Given the description of an element on the screen output the (x, y) to click on. 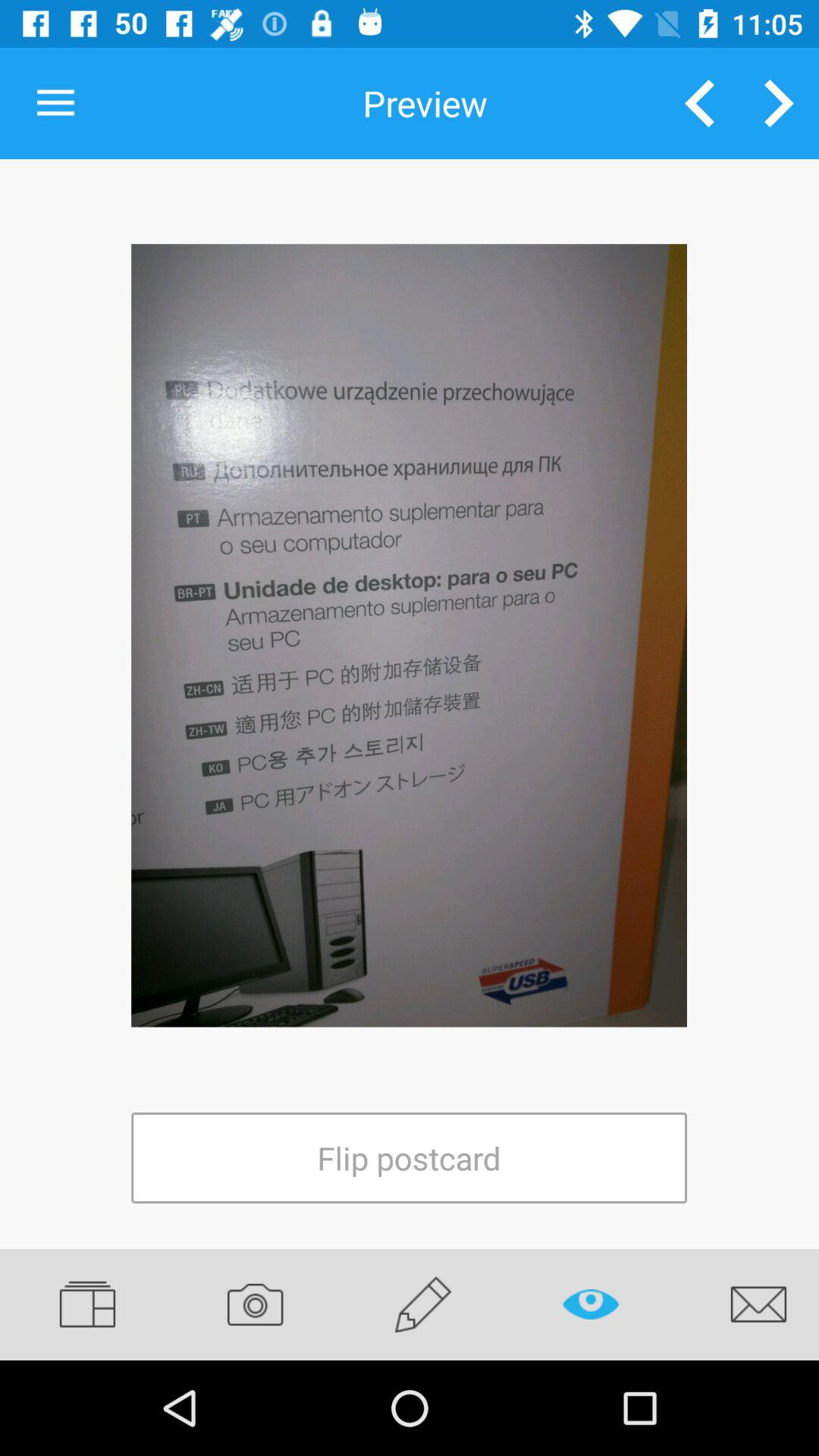
go forward (779, 103)
